Given the description of an element on the screen output the (x, y) to click on. 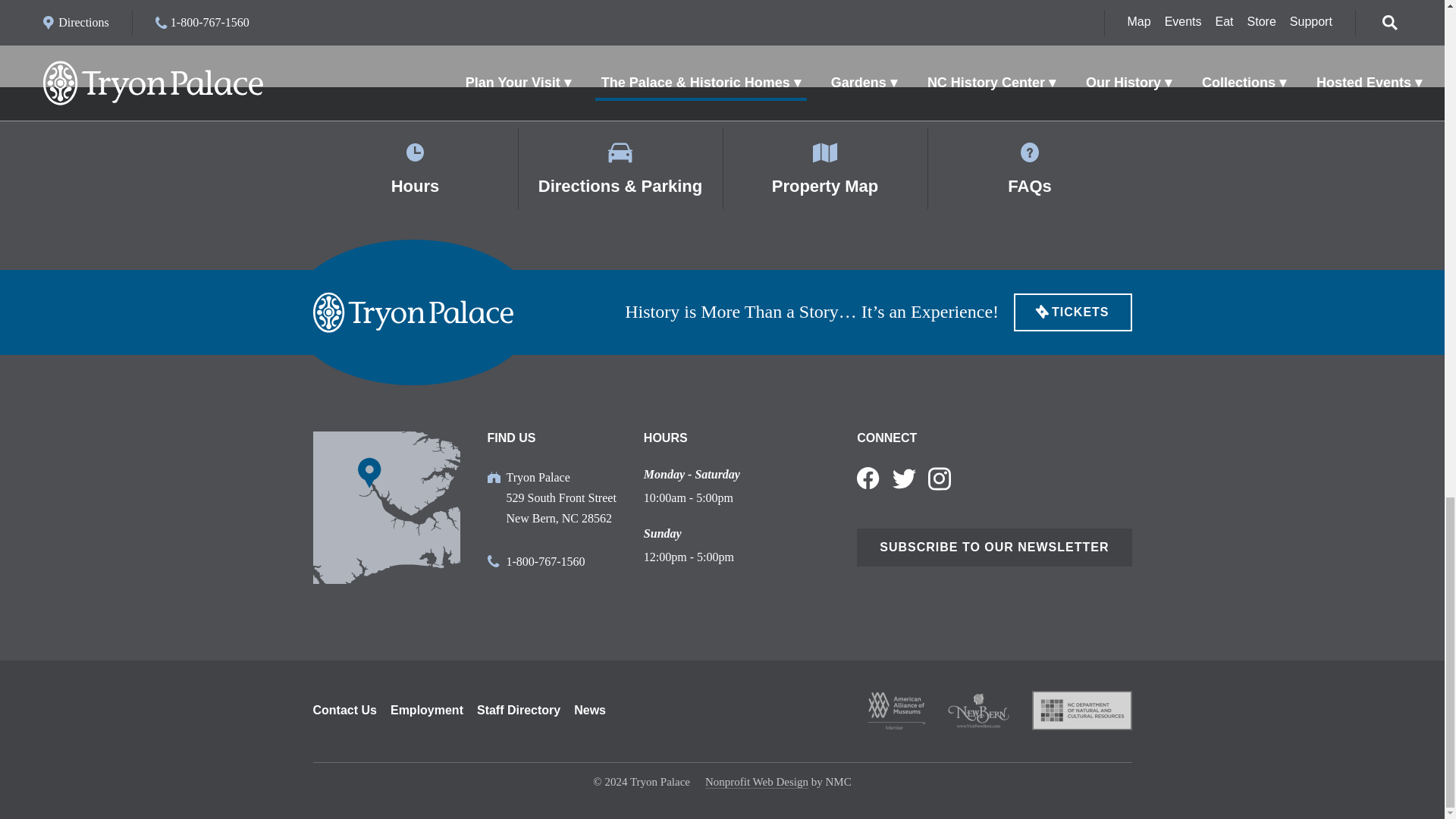
homepage (412, 312)
